Given the description of an element on the screen output the (x, y) to click on. 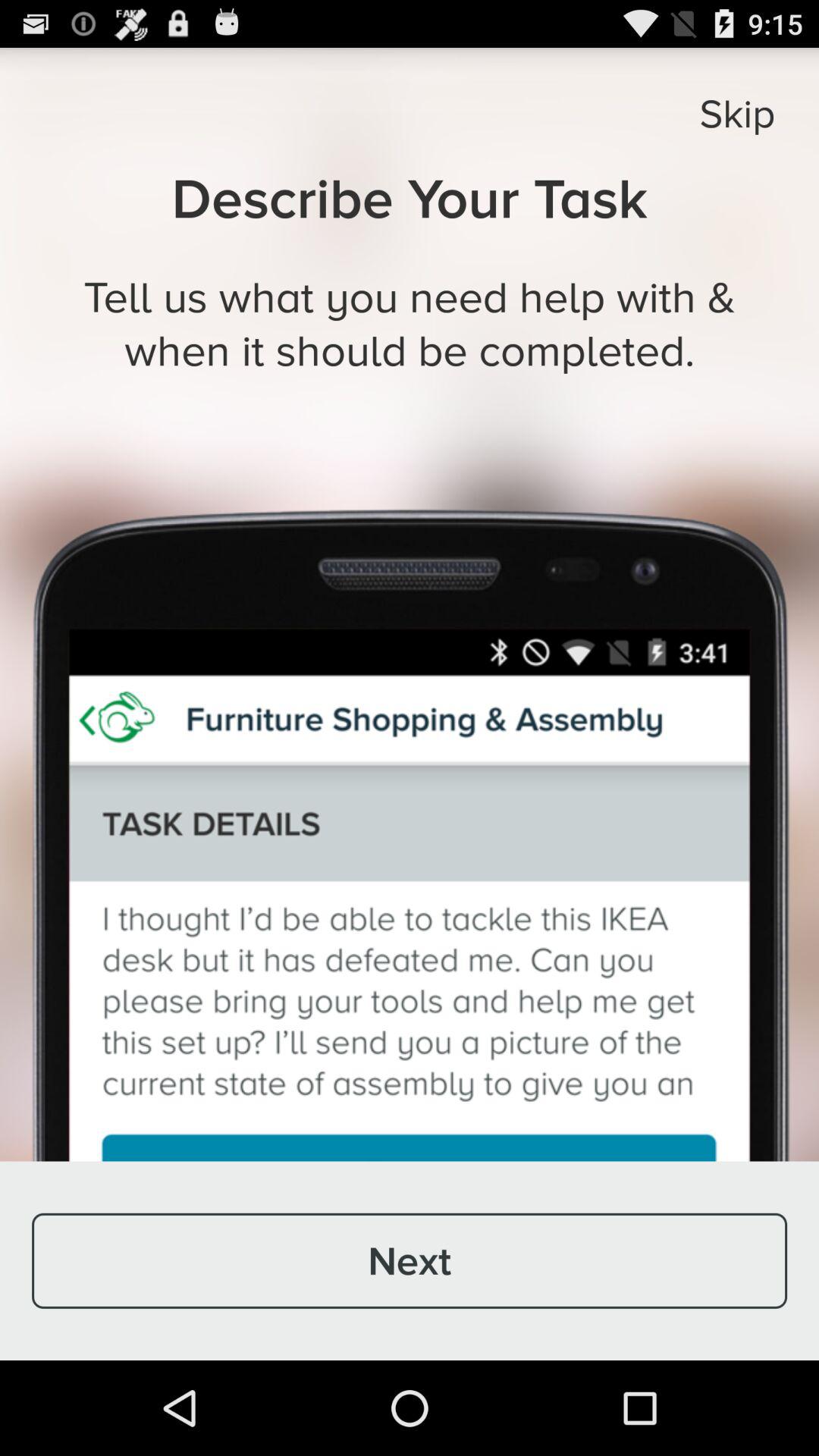
flip to skip (737, 113)
